Given the description of an element on the screen output the (x, y) to click on. 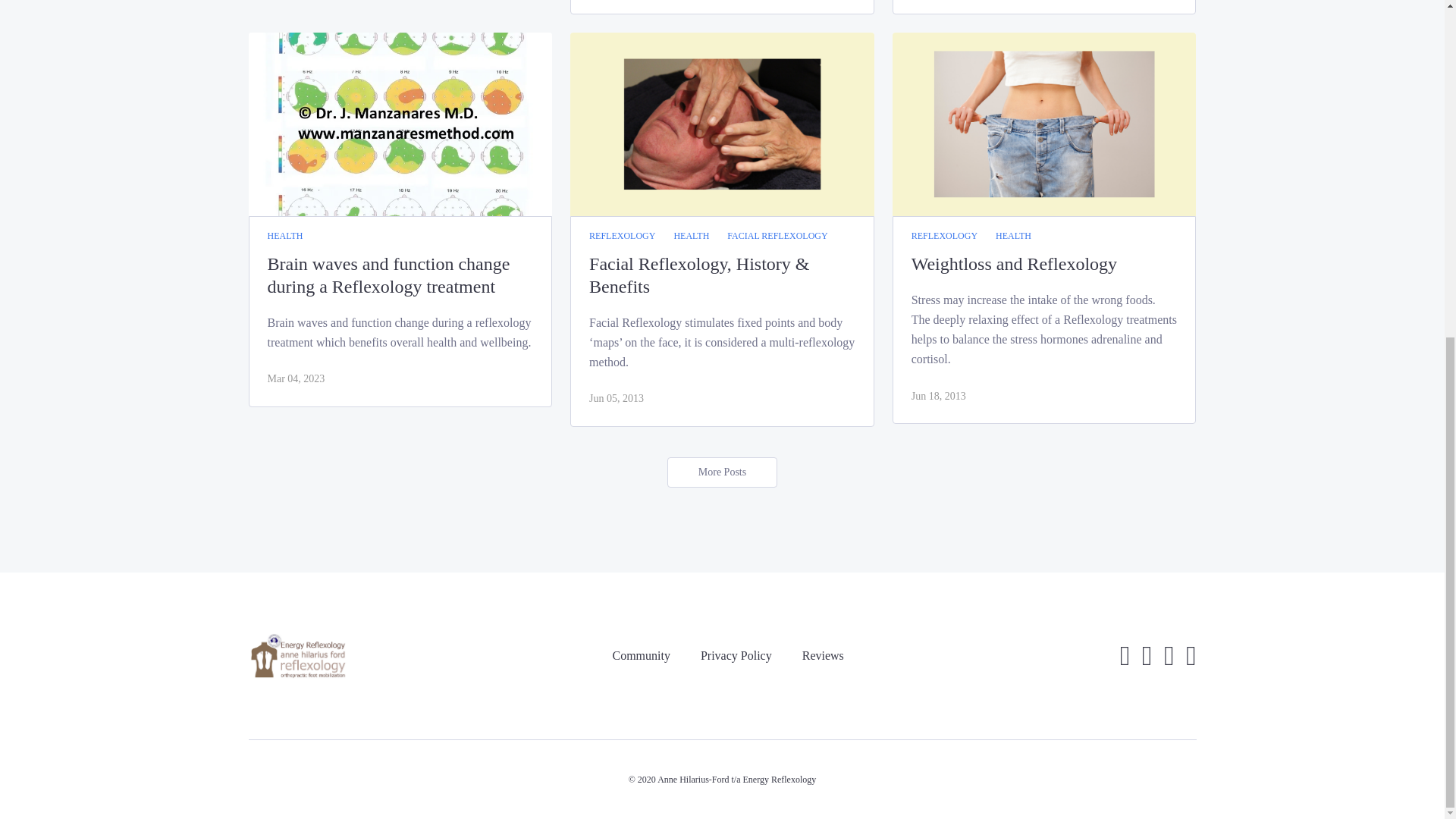
REFLEXOLOGY (622, 236)
HEALTH (1012, 236)
REFLEXOLOGY (943, 236)
HEALTH (690, 236)
Weightloss and Reflexology (1044, 263)
FACIAL REFLEXOLOGY (776, 236)
HEALTH (284, 236)
